Given the description of an element on the screen output the (x, y) to click on. 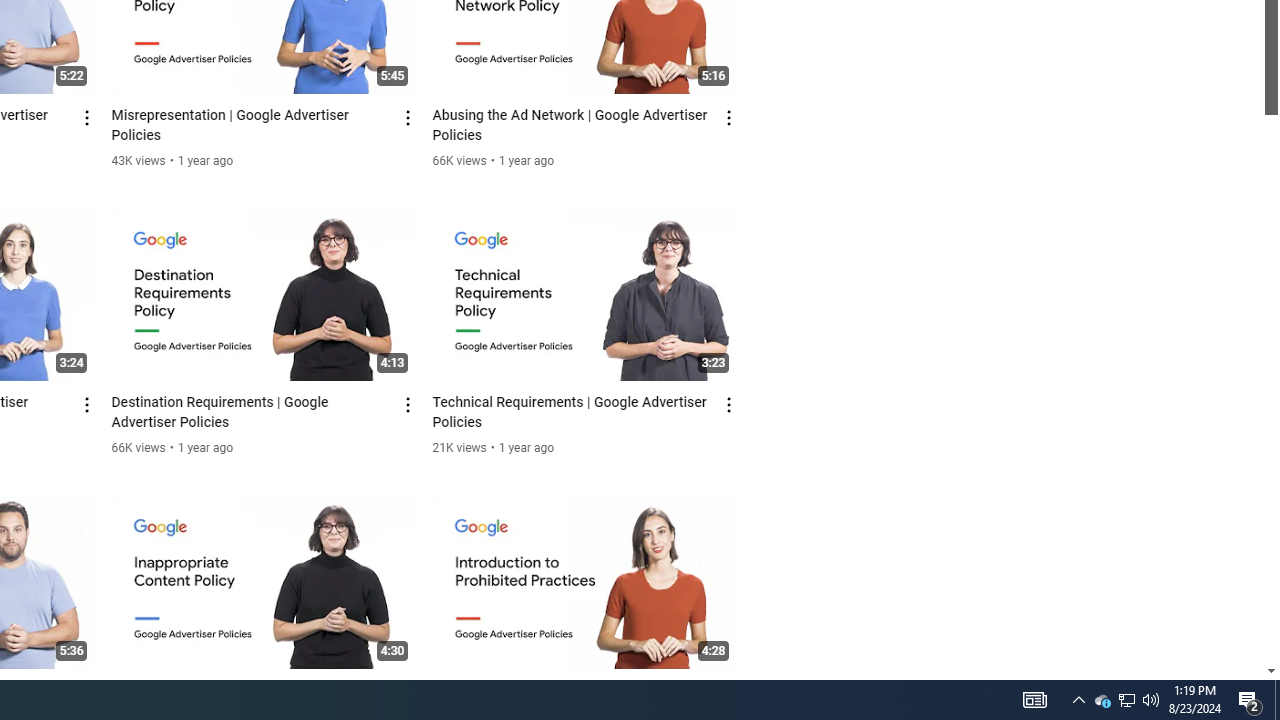
Action menu (729, 691)
